Given the description of an element on the screen output the (x, y) to click on. 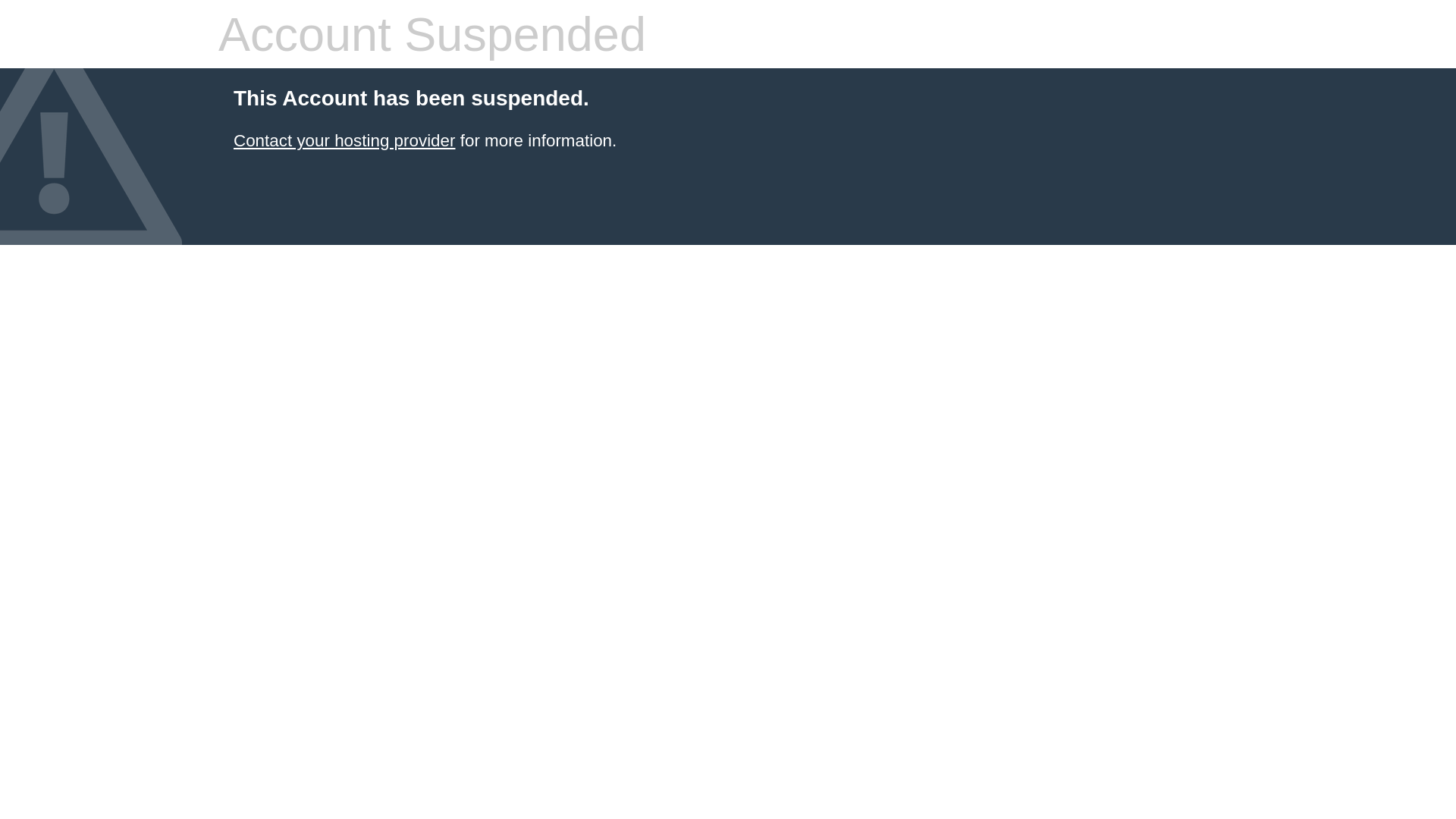
Contact your hosting provider Element type: text (344, 140)
